Given the description of an element on the screen output the (x, y) to click on. 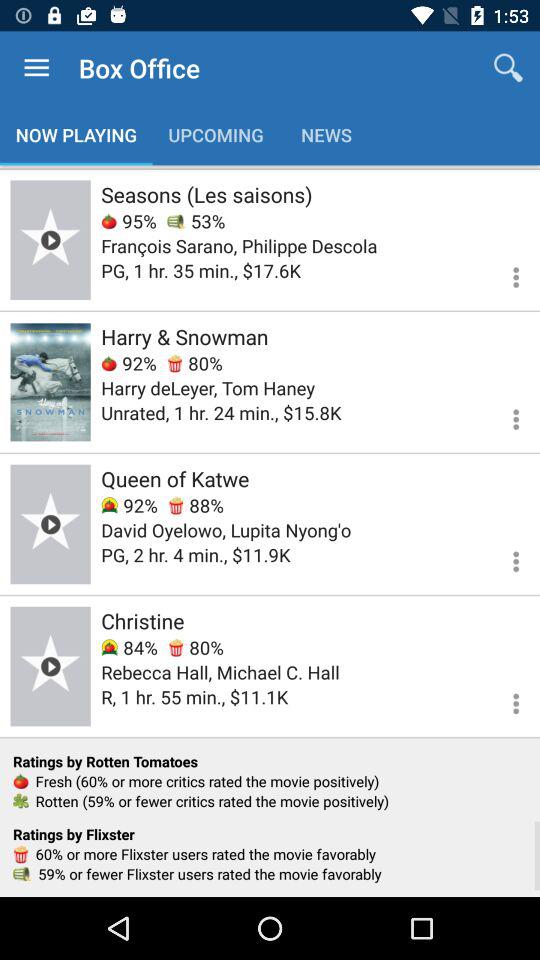
check the page (50, 524)
